Given the description of an element on the screen output the (x, y) to click on. 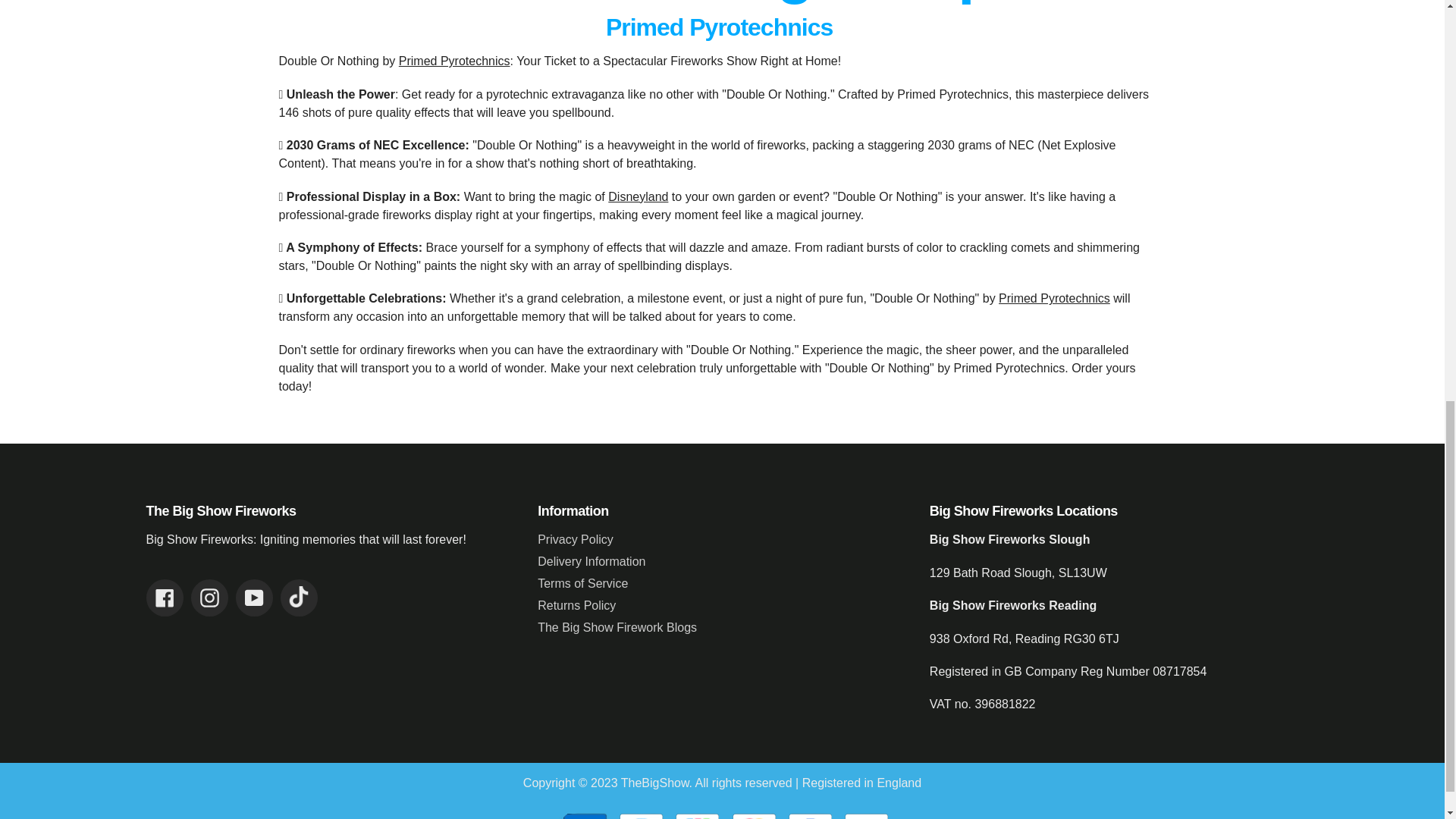
Primed Pyrotechnics (1053, 297)
Primed Pyrotechnics (454, 60)
Disney Firewrorks (638, 195)
